Given the description of an element on the screen output the (x, y) to click on. 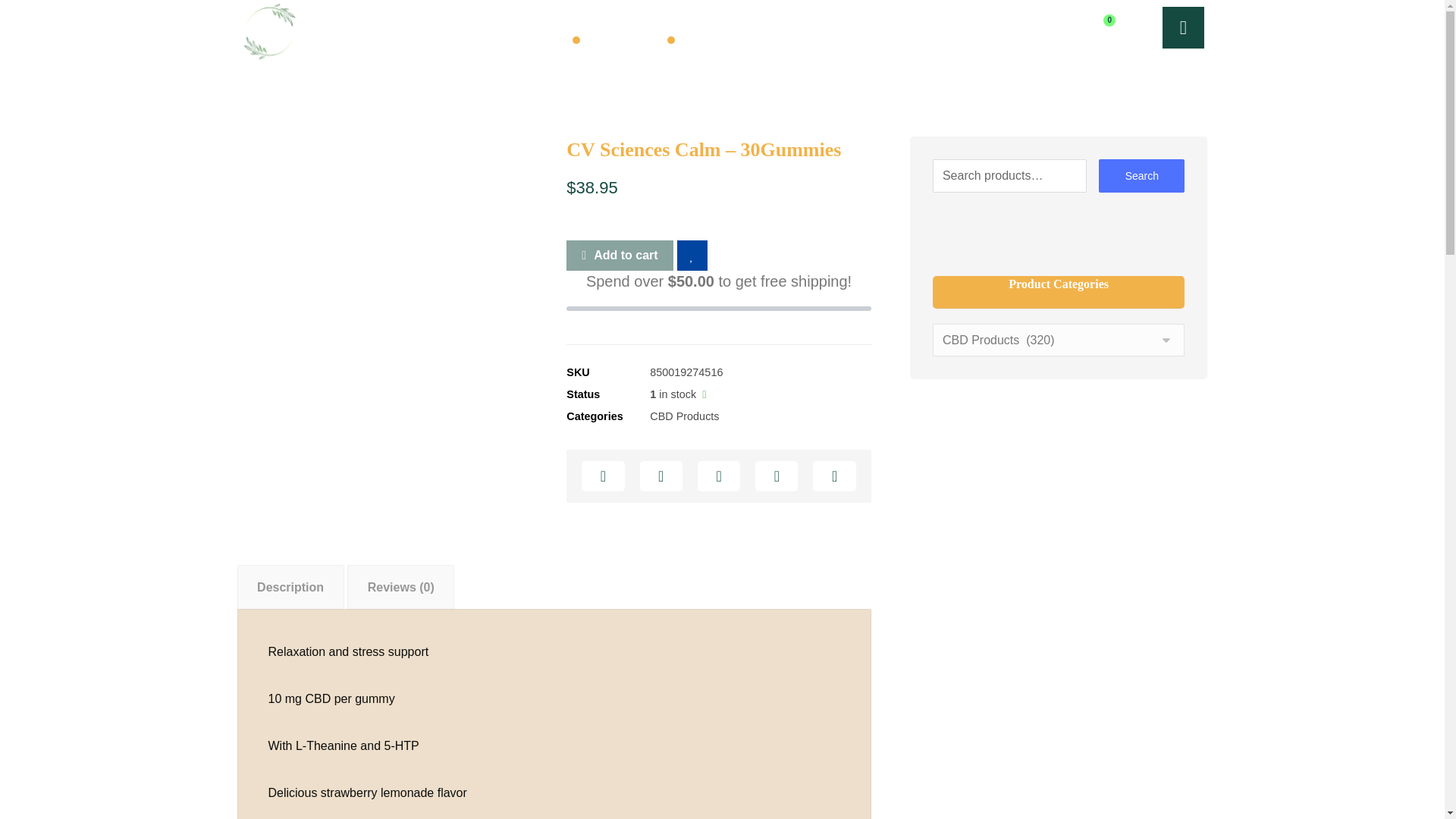
CBD Products (684, 416)
Search (1142, 175)
Description (290, 587)
Best Seller (713, 39)
Add to cart (619, 255)
New Arrivals (623, 39)
